Given the description of an element on the screen output the (x, y) to click on. 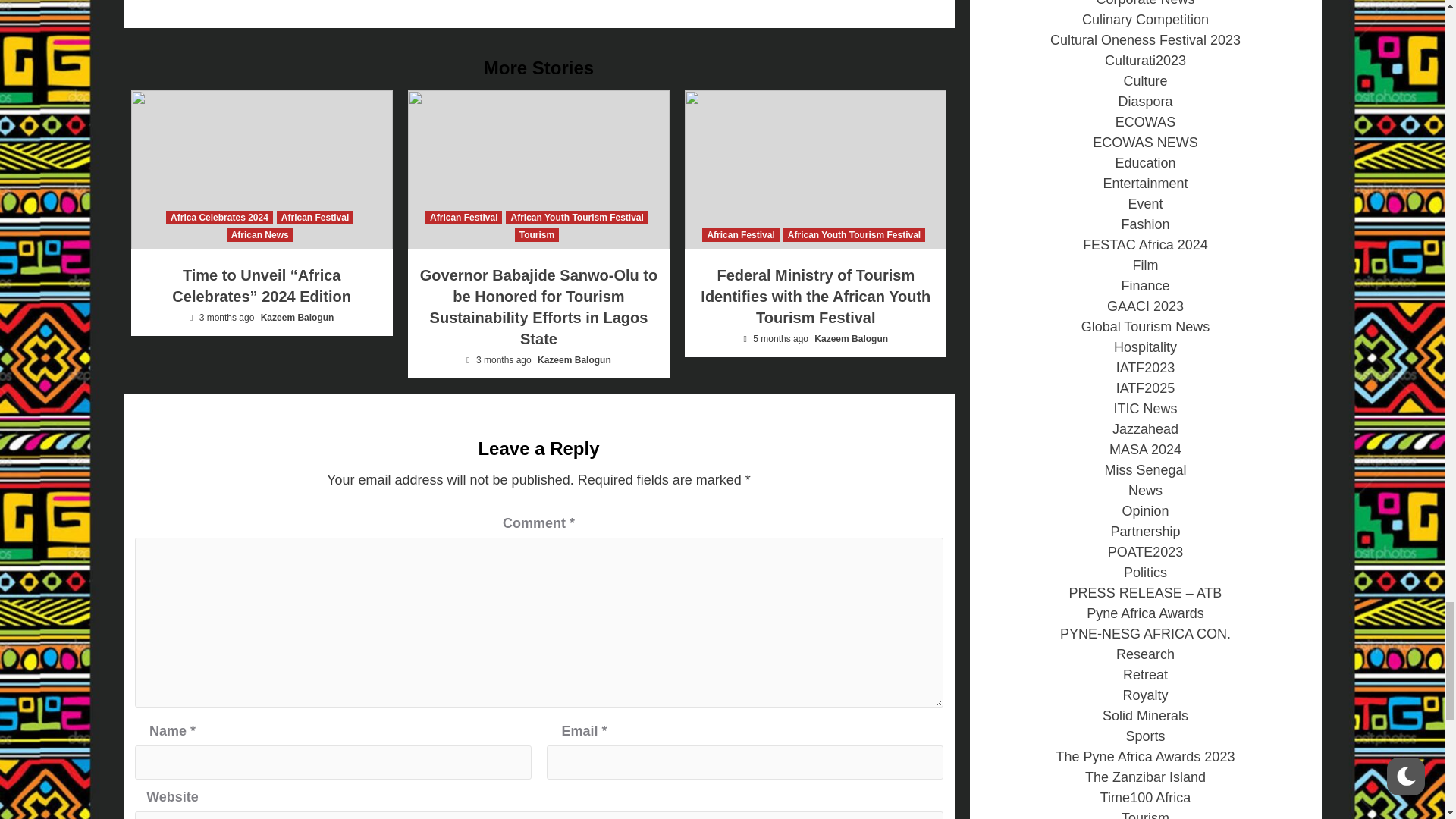
African Festival (463, 217)
African News (260, 234)
Kazeem Balogun (297, 317)
Africa Celebrates 2024 (219, 217)
African Festival (314, 217)
